Given the description of an element on the screen output the (x, y) to click on. 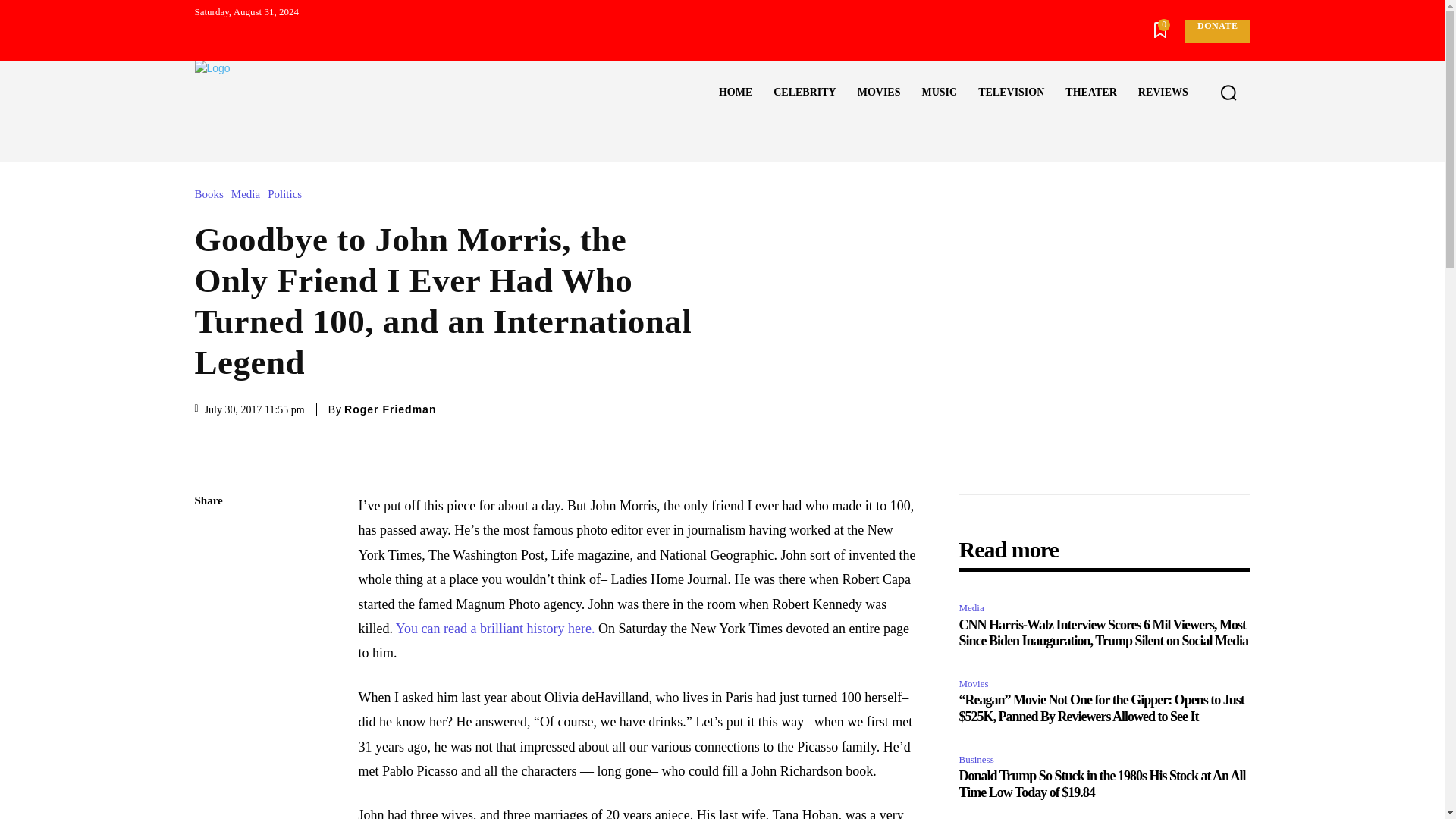
Books (211, 194)
REVIEWS (1162, 92)
TELEVISION (1011, 92)
CELEBRITY (803, 92)
Donate (1217, 31)
MUSIC (939, 92)
MOVIES (879, 92)
THEATER (1090, 92)
HOME (734, 92)
DONATE (1217, 31)
